Given the description of an element on the screen output the (x, y) to click on. 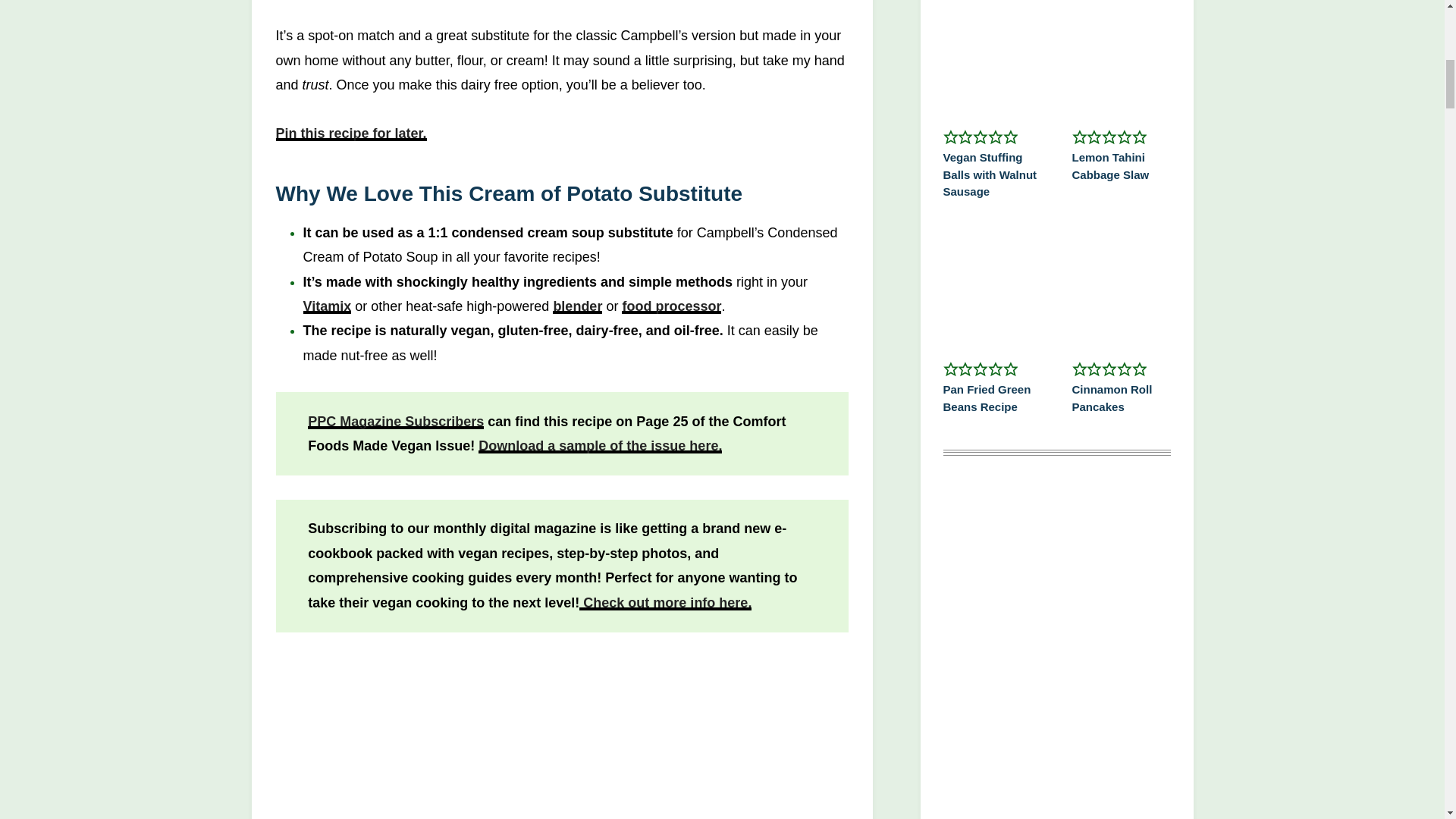
Download a sample of the issue here. (600, 445)
Pin this recipe for later. (351, 133)
food processor (670, 305)
PPC Magazine Subscribers (395, 421)
Vitamix (327, 305)
blender (577, 305)
Check out more info here. (665, 602)
